Given the description of an element on the screen output the (x, y) to click on. 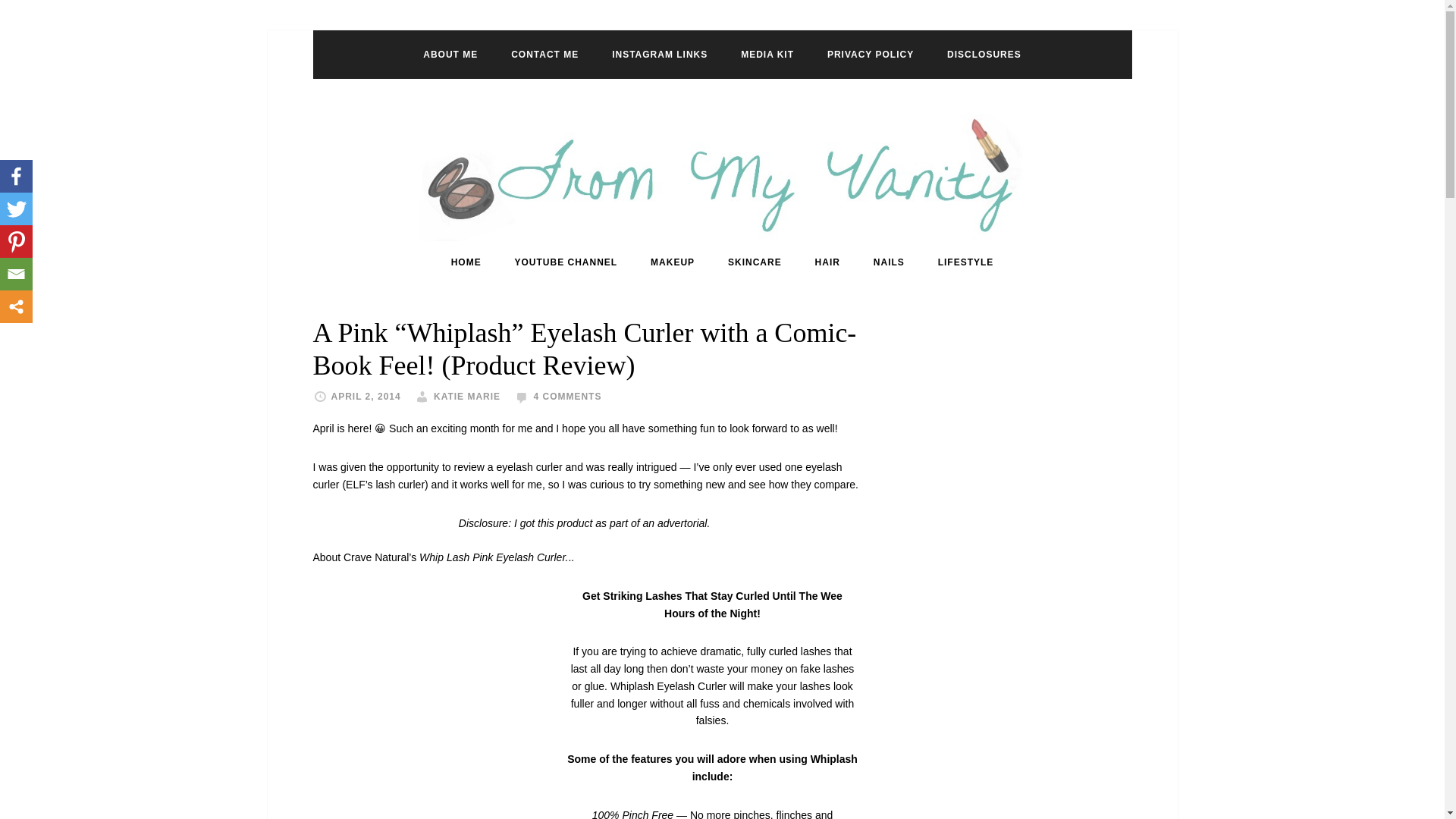
SKINCARE (754, 262)
KATIE MARIE (466, 396)
MEDIA KIT (767, 54)
NAILS (889, 262)
HOME (465, 262)
LIFESTYLE (966, 262)
Email (16, 273)
INSTAGRAM LINKS (659, 54)
HAIR (827, 262)
